Given the description of an element on the screen output the (x, y) to click on. 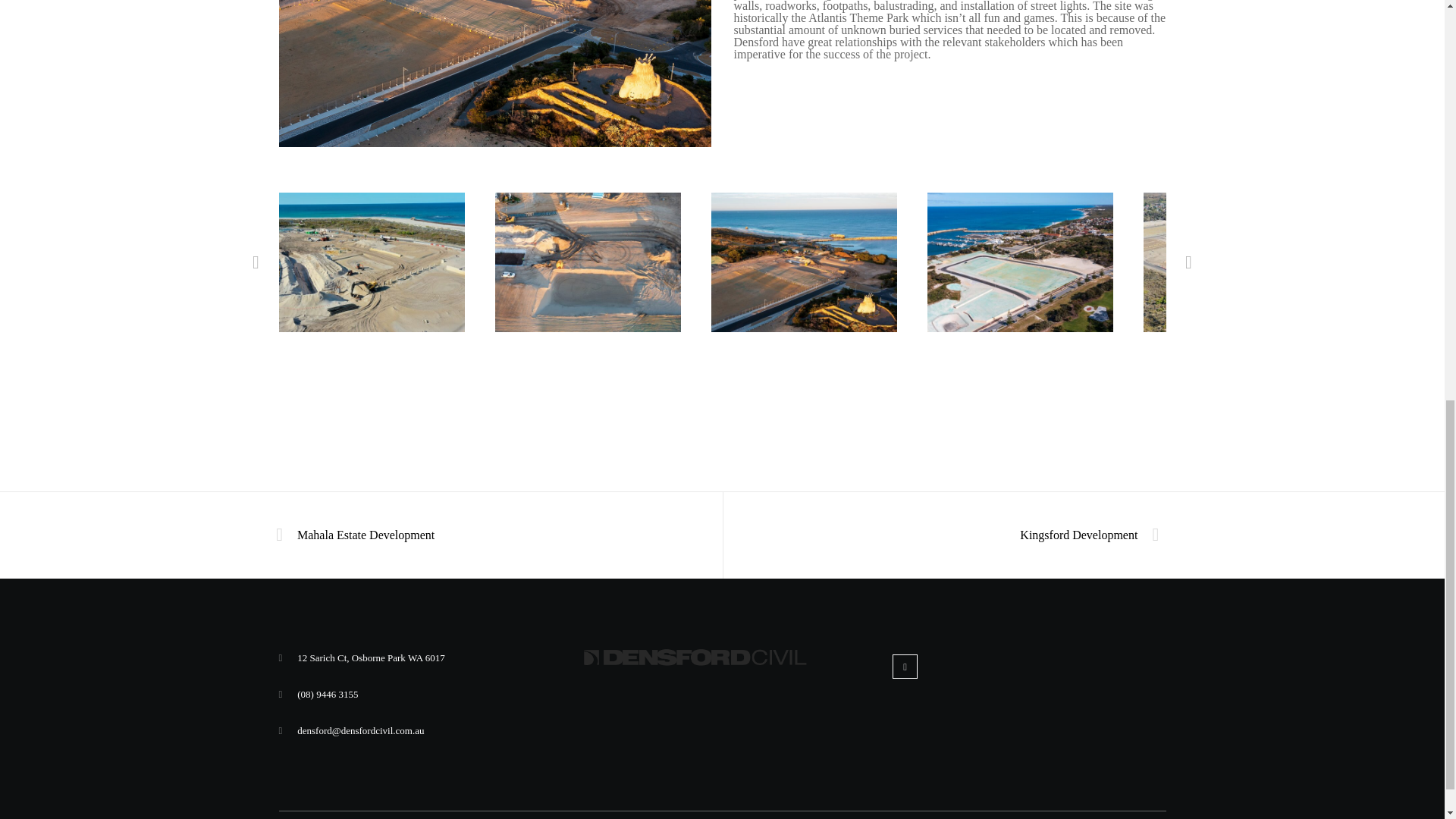
Mahala Estate Development (361, 535)
